Given the description of an element on the screen output the (x, y) to click on. 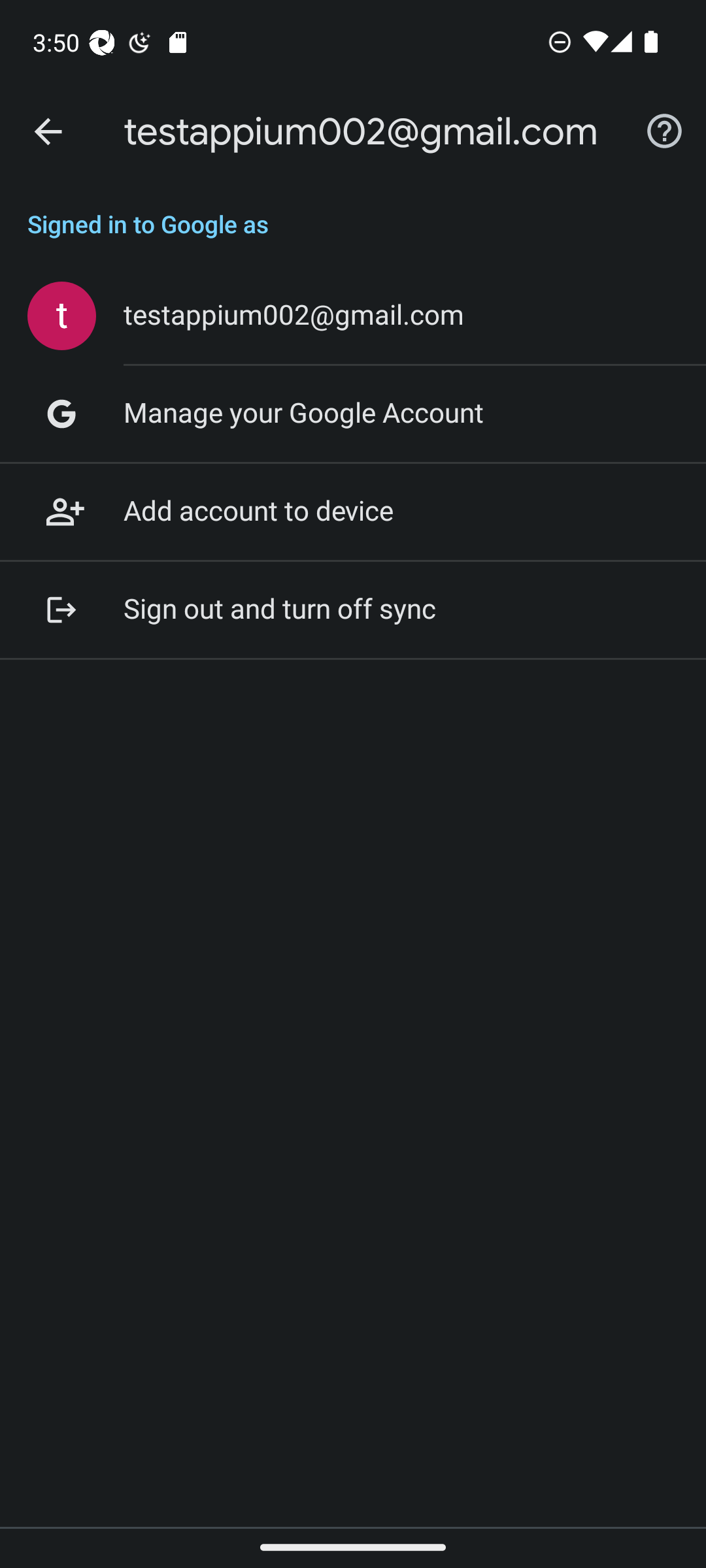
Navigate up (48, 131)
Help & feedback (664, 131)
testappium002@gmail.com (353, 315)
Manage your Google Account (353, 413)
Add account to device (353, 511)
Sign out and turn off sync (353, 609)
